Given the description of an element on the screen output the (x, y) to click on. 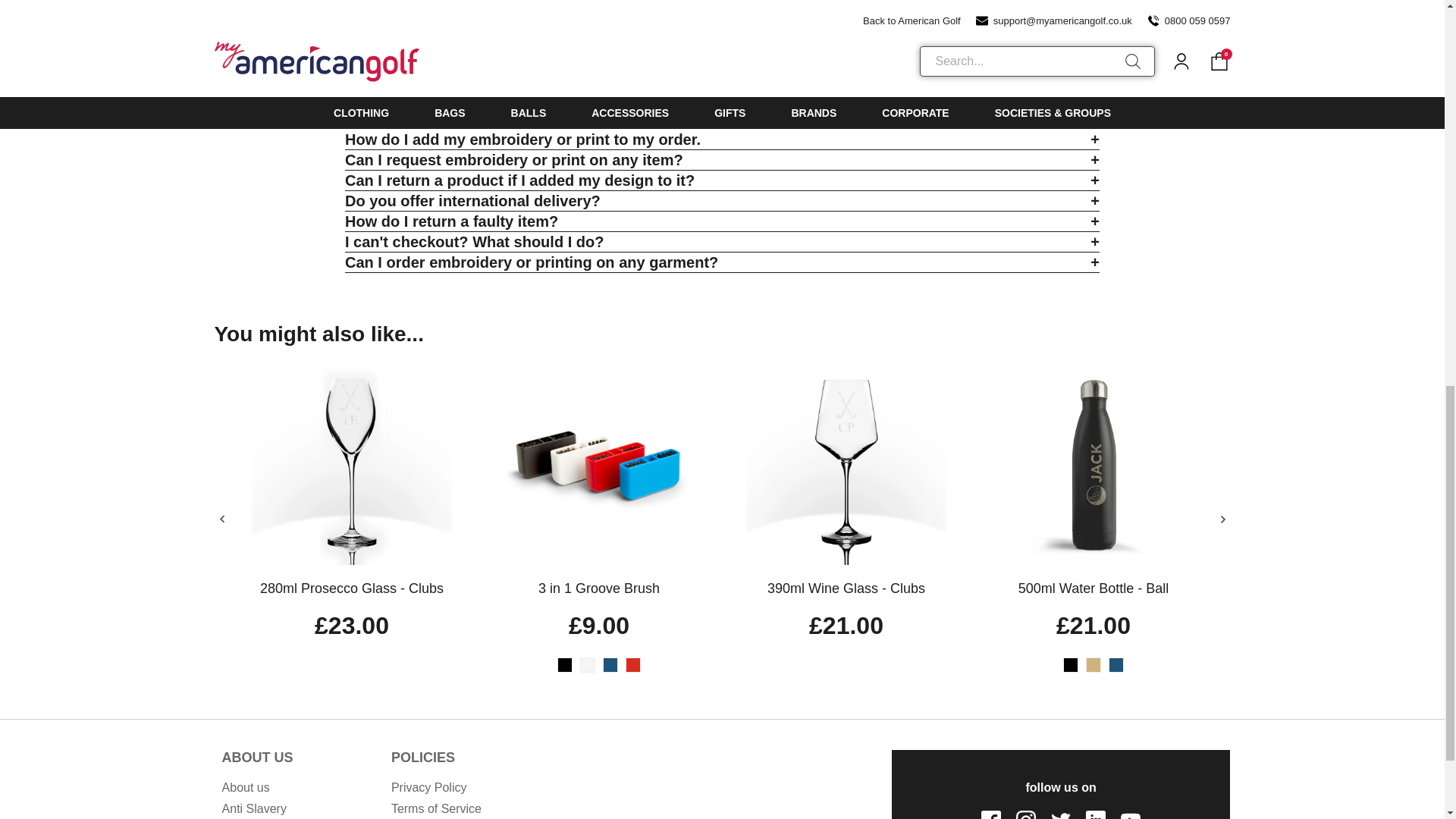
SHIPPING (1010, 45)
